Given the description of an element on the screen output the (x, y) to click on. 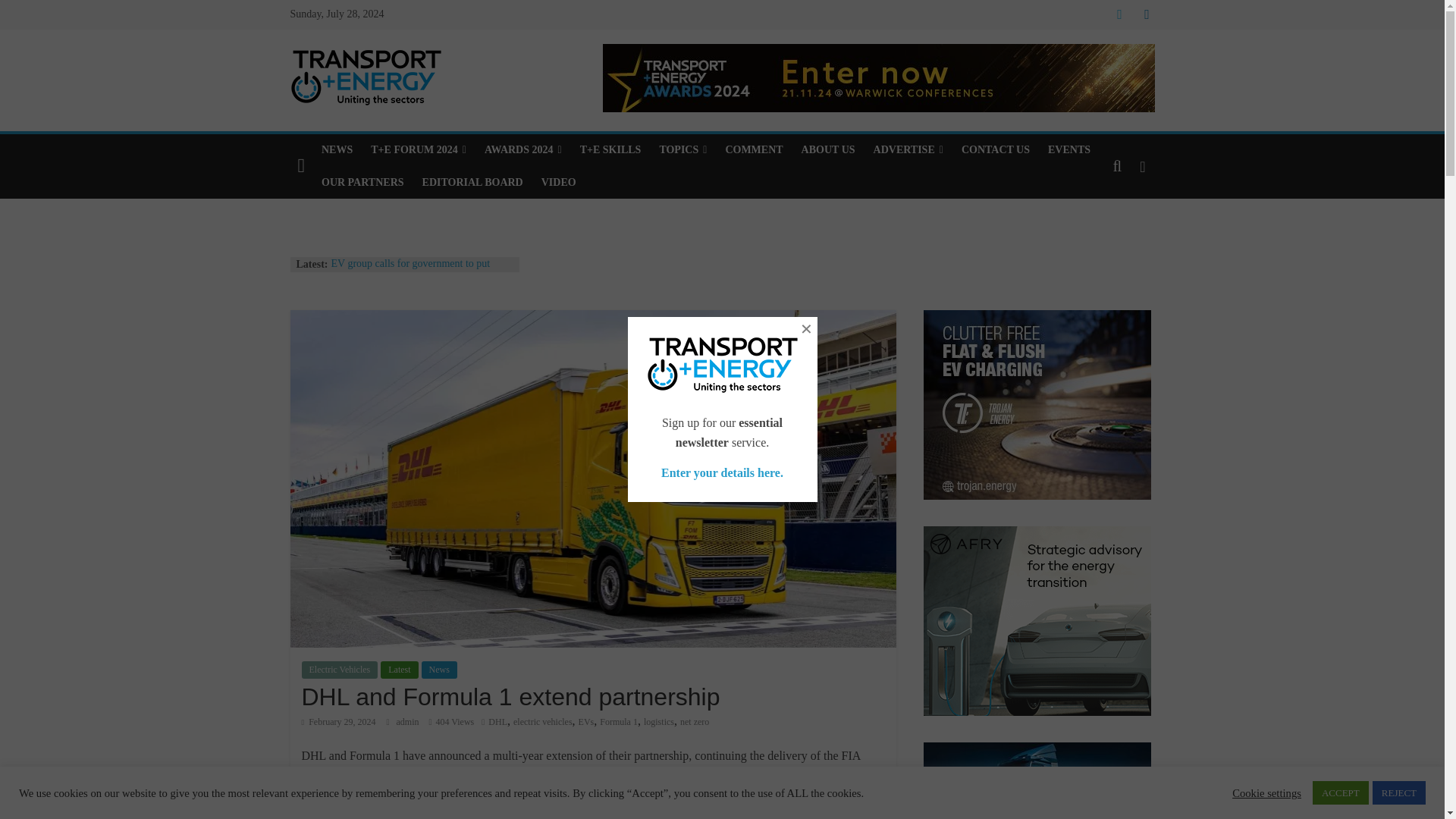
admin (409, 721)
4:50 am (338, 721)
NEWS (337, 150)
TOPICS (682, 150)
AWARDS 2024 (523, 150)
EV group calls for government to put renewed focus on skills (409, 270)
